Given the description of an element on the screen output the (x, y) to click on. 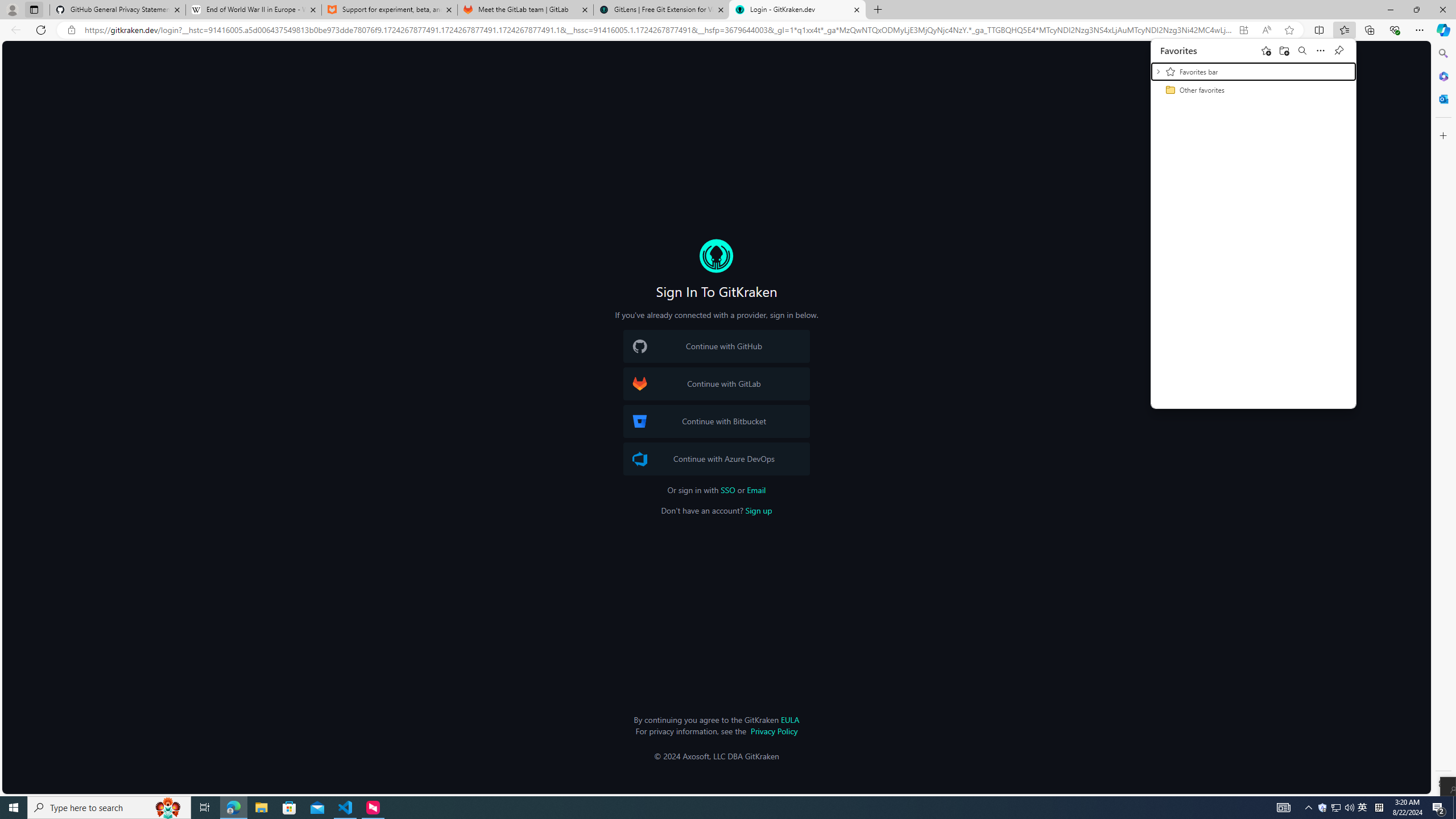
Start (13, 807)
Action Center, 2 new notifications (1439, 807)
Azure DevOps Logo (1335, 807)
System Promoted Notification Area (639, 458)
User Promoted Notification Area (1322, 807)
GitHub General Privacy Statement - GitHub Docs (1342, 807)
Microsoft Store (117, 9)
Tray Input Indicator - Chinese (Simplified, China) (289, 807)
Azure DevOps Logo Continue with Azure DevOps (1362, 807)
